Given the description of an element on the screen output the (x, y) to click on. 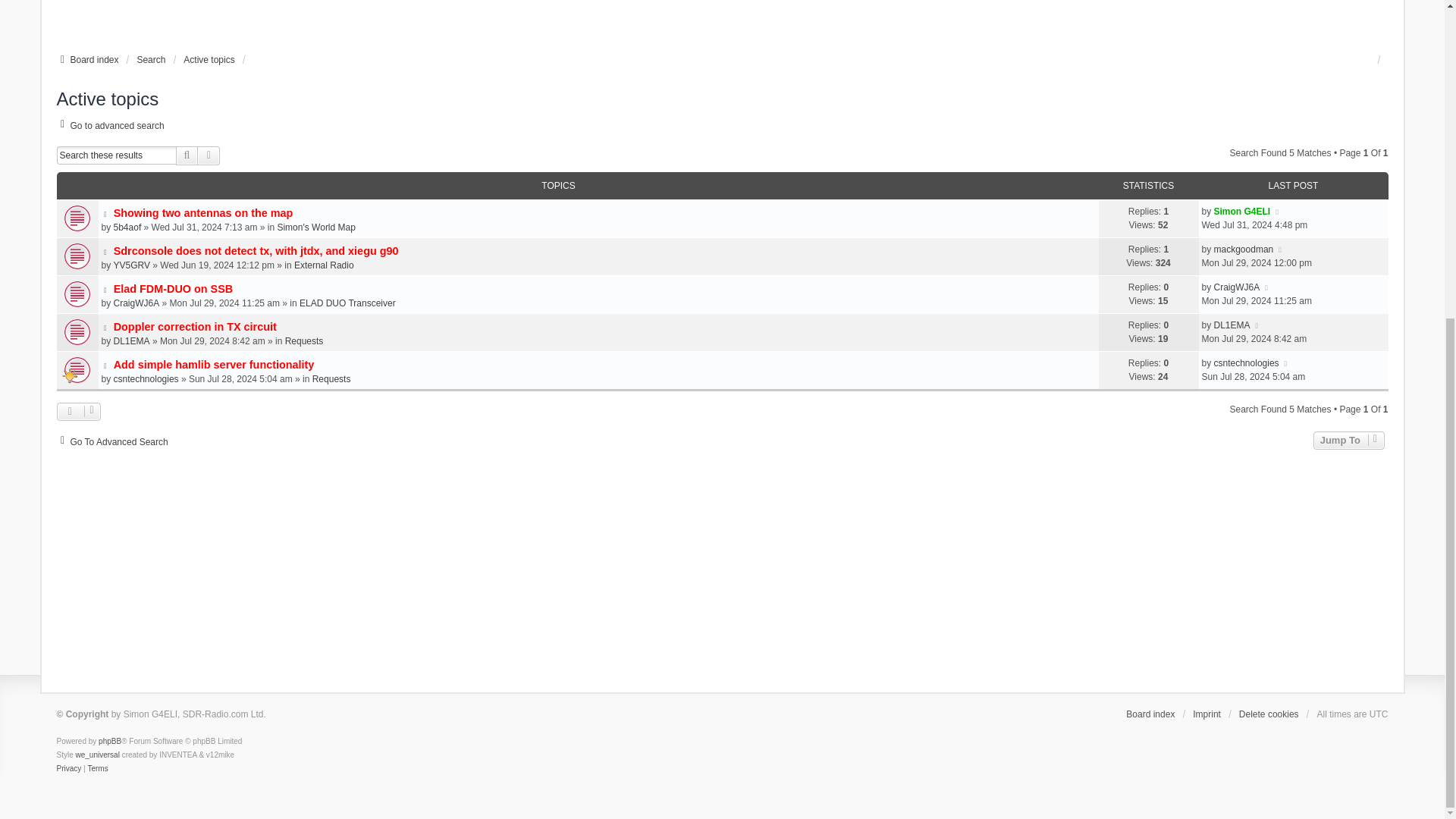
Advanced search (208, 155)
Simon G4ELI (1242, 211)
Unread posts (721, 218)
Sdrconsole does not detect tx, with jtdx, and xiegu g90 (255, 250)
Go to advanced search (109, 125)
Showing two antennas on the map (203, 213)
Active topics (208, 59)
Search (150, 59)
Search (187, 155)
Board index (86, 59)
Advanced Search (208, 155)
Search (187, 155)
Advertisement (721, 22)
5b4aof (127, 227)
Advanced search (109, 125)
